Given the description of an element on the screen output the (x, y) to click on. 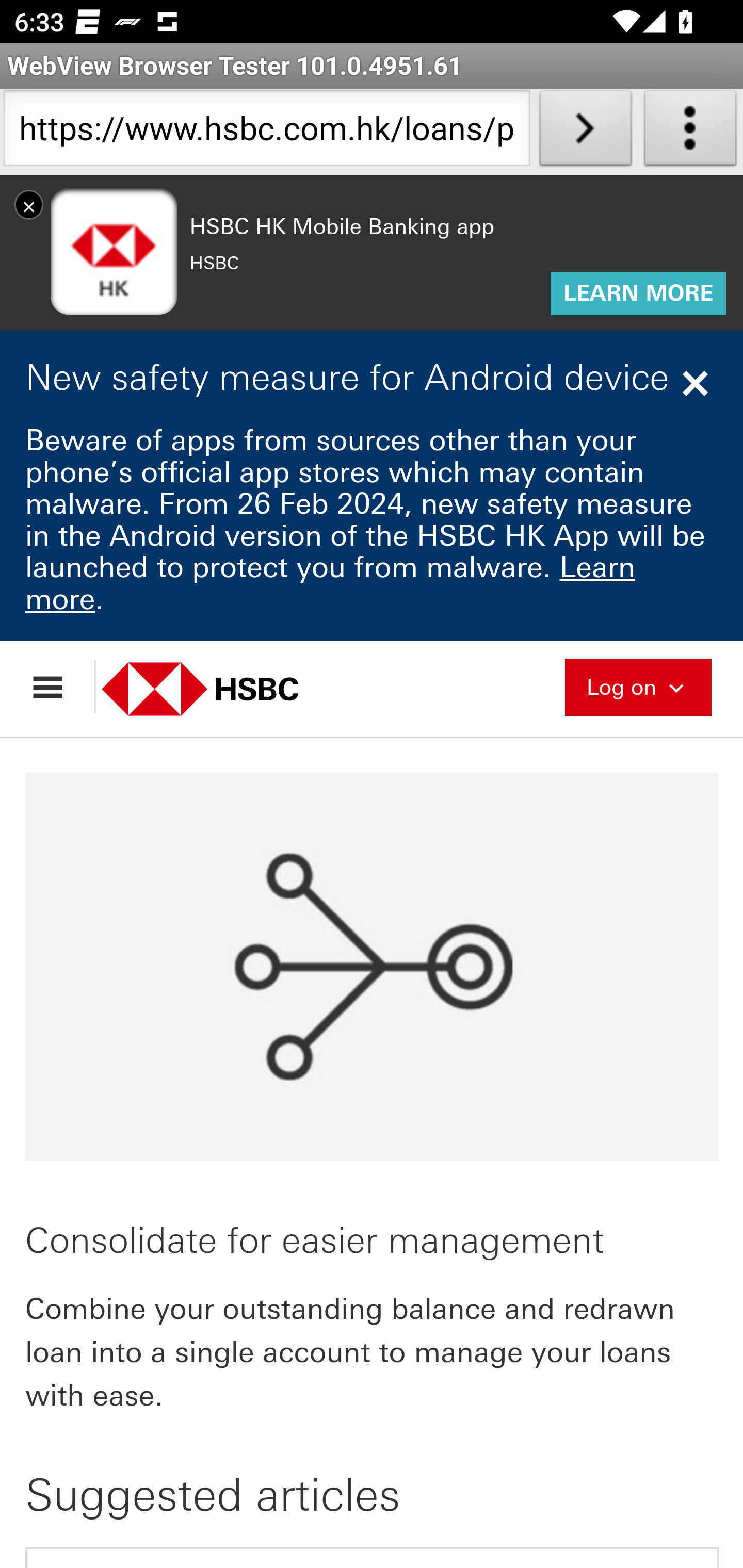
Load URL (585, 132)
About WebView (690, 132)
X (29, 205)
LEARN MORE (638, 295)
Close (697, 384)
Learn more (331, 584)
Log on Collapsed (638, 686)
Open menu (57, 688)
HSBC Hong Kong Bank (221, 690)
